Given the description of an element on the screen output the (x, y) to click on. 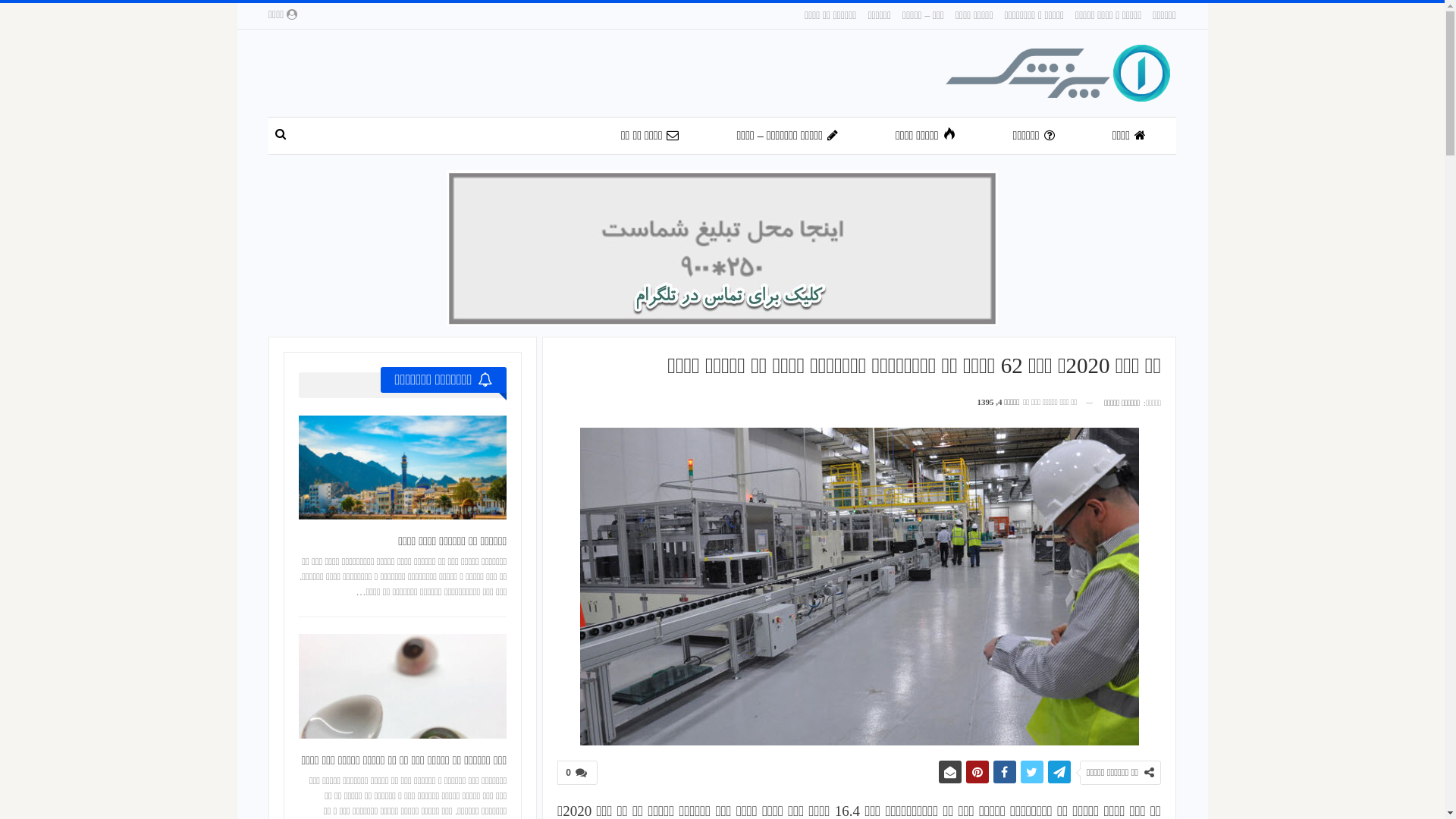
0 Element type: text (577, 772)
